Given the description of an element on the screen output the (x, y) to click on. 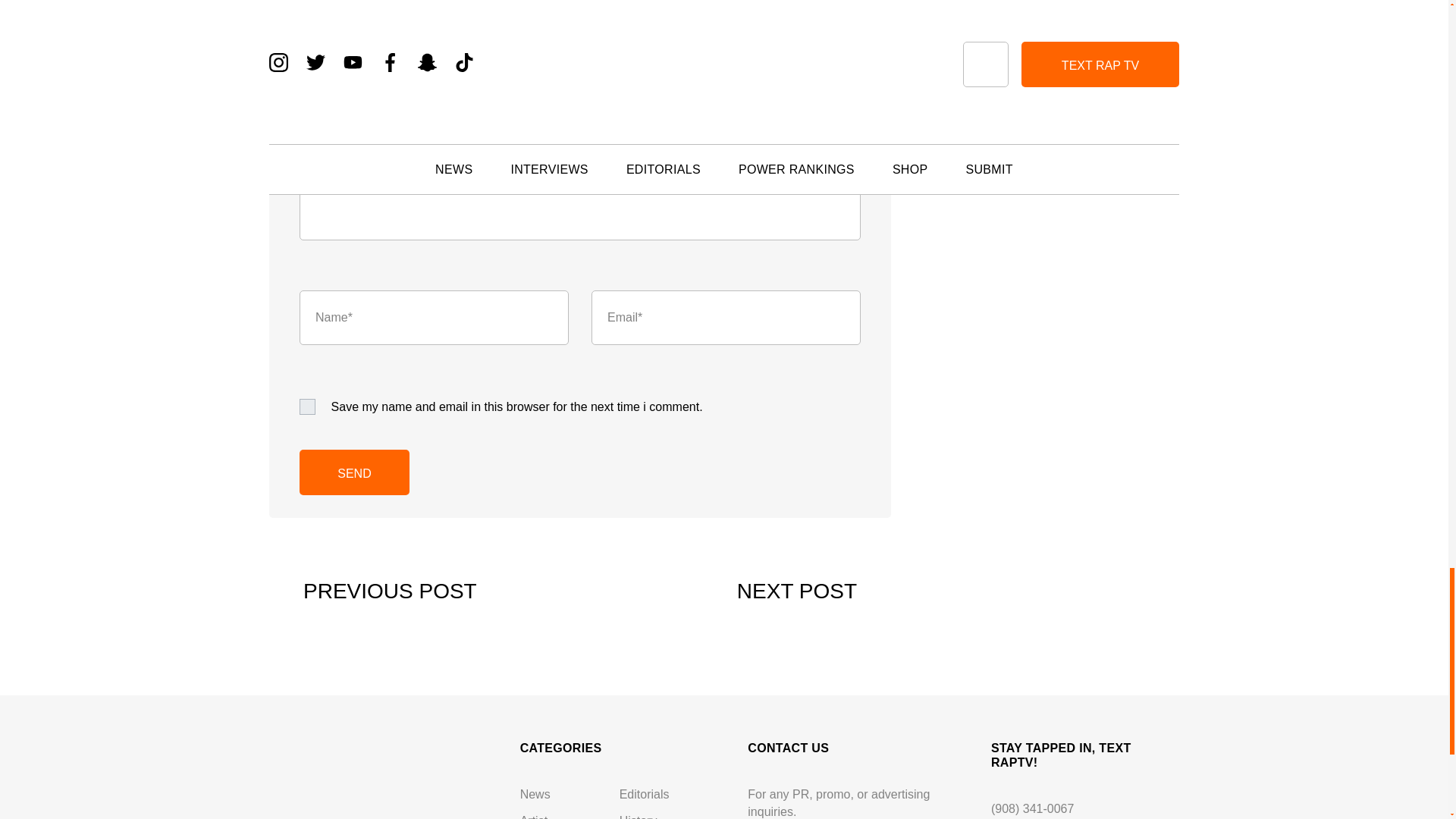
PREVIOUS POST (373, 591)
SEND (354, 472)
NEXT POST (813, 591)
SEND (354, 472)
